Given the description of an element on the screen output the (x, y) to click on. 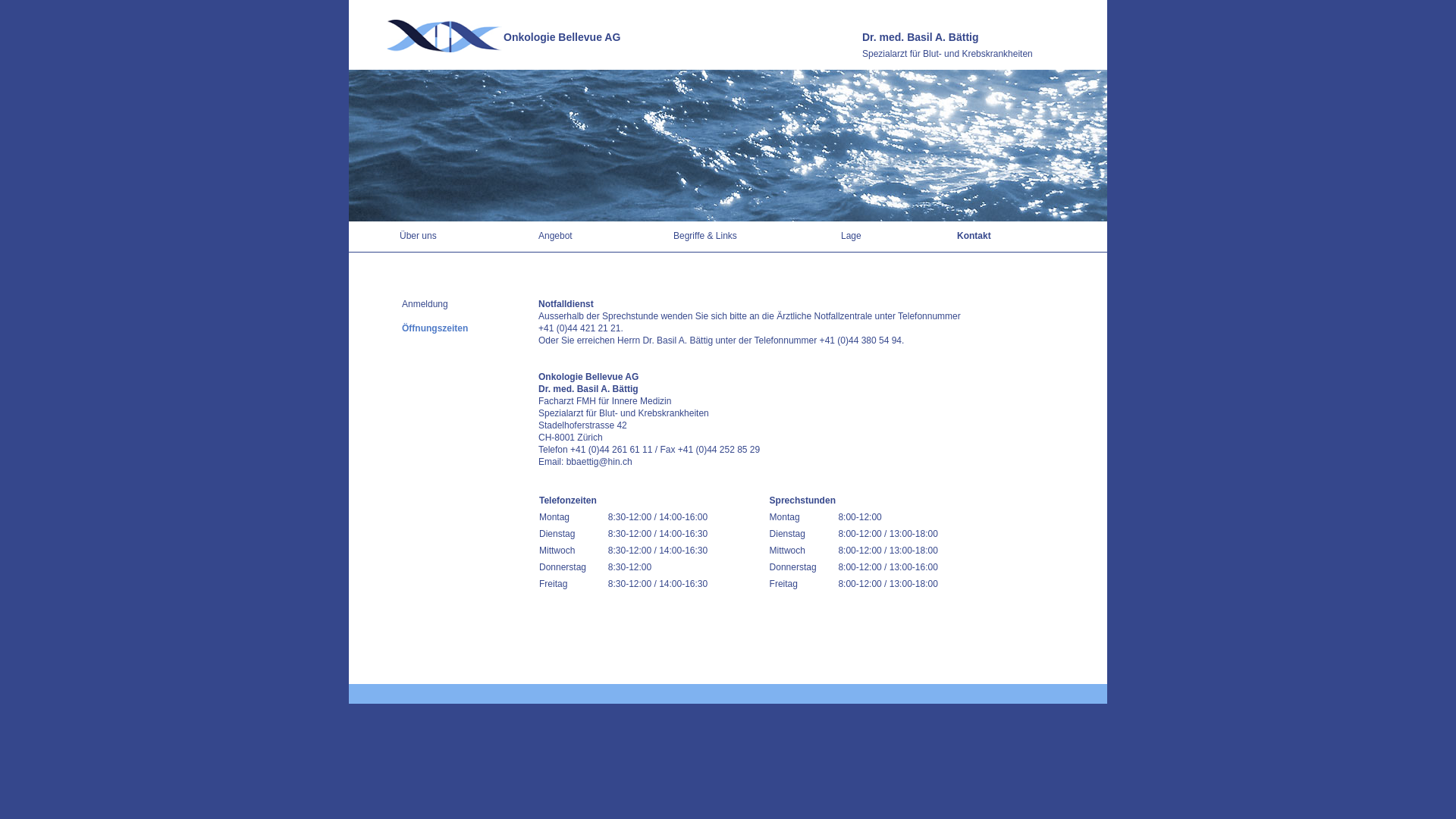
bbaettig@hin.ch Element type: text (599, 461)
Kontakt Element type: text (974, 235)
Lage Element type: text (850, 235)
Angebot Element type: text (555, 235)
Anmeldung Element type: text (424, 303)
Begriffe & Links Element type: text (705, 235)
